Given the description of an element on the screen output the (x, y) to click on. 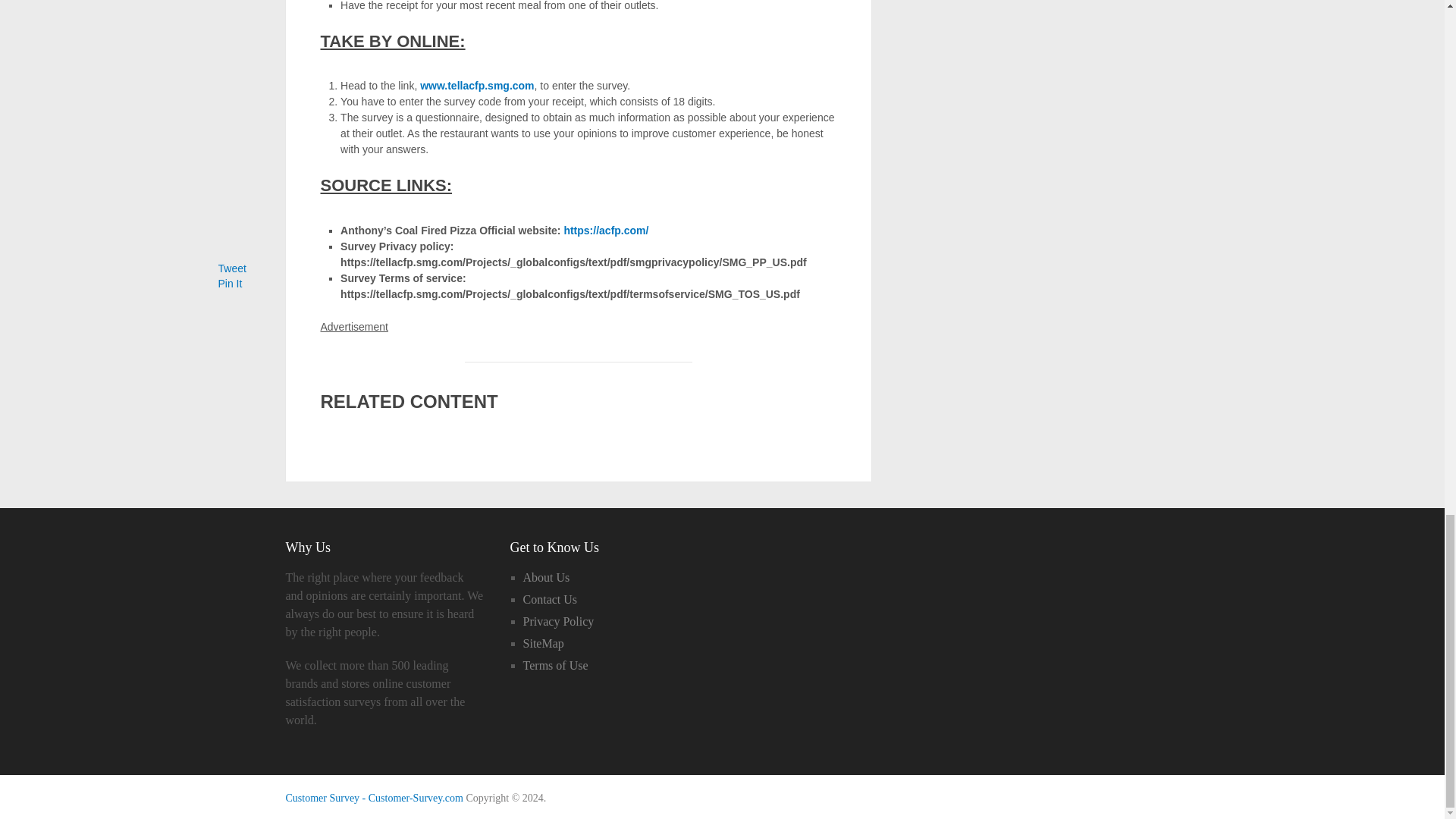
SiteMap (543, 643)
Privacy Policy (558, 621)
 Customer Satisfaction Survey (374, 797)
Terms of Use (555, 665)
Contact Us (550, 599)
www.tellacfp.smg.com (477, 85)
About Us (546, 576)
